Given the description of an element on the screen output the (x, y) to click on. 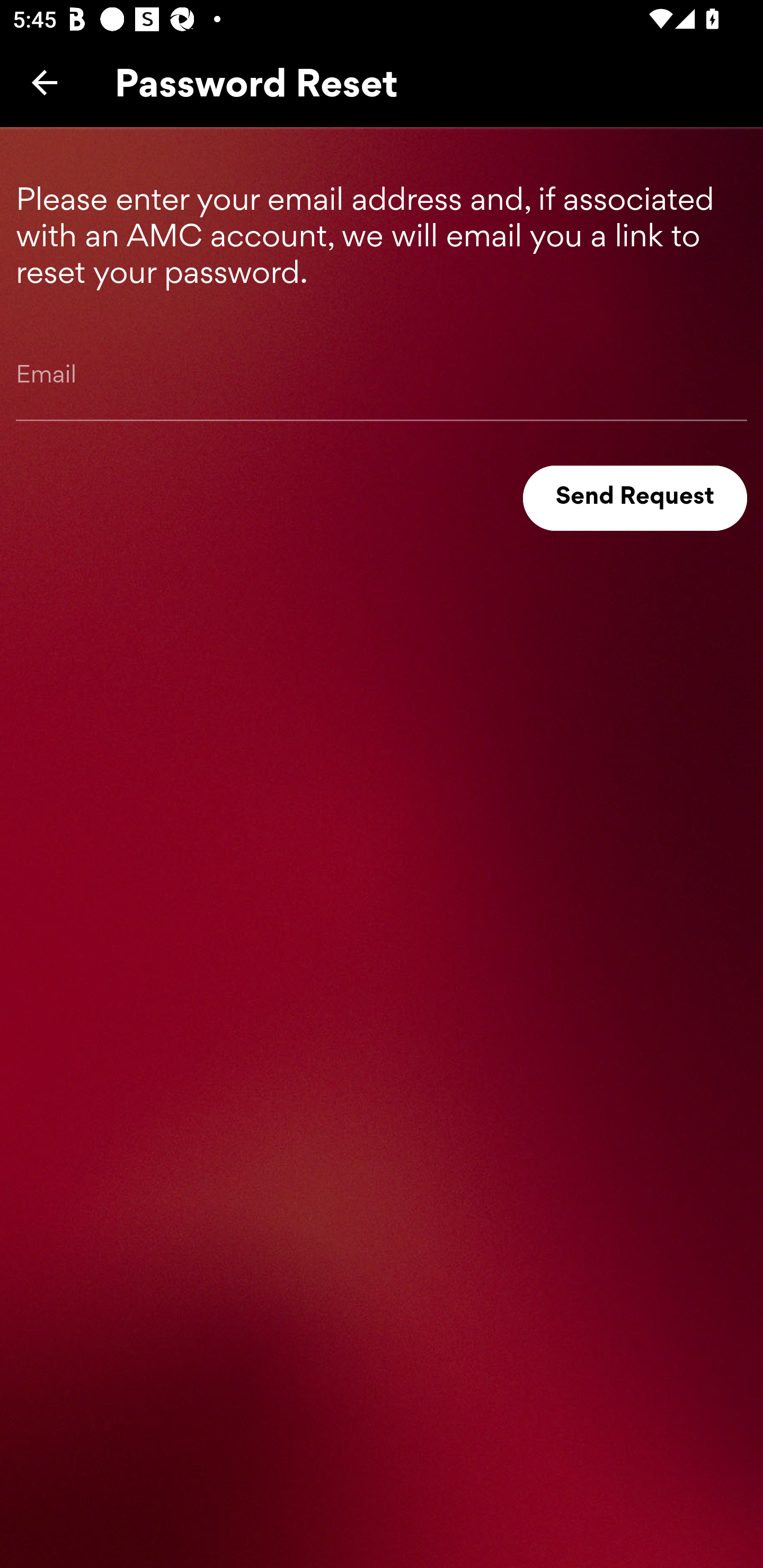
Back (44, 82)
Send Request (634, 498)
